Given the description of an element on the screen output the (x, y) to click on. 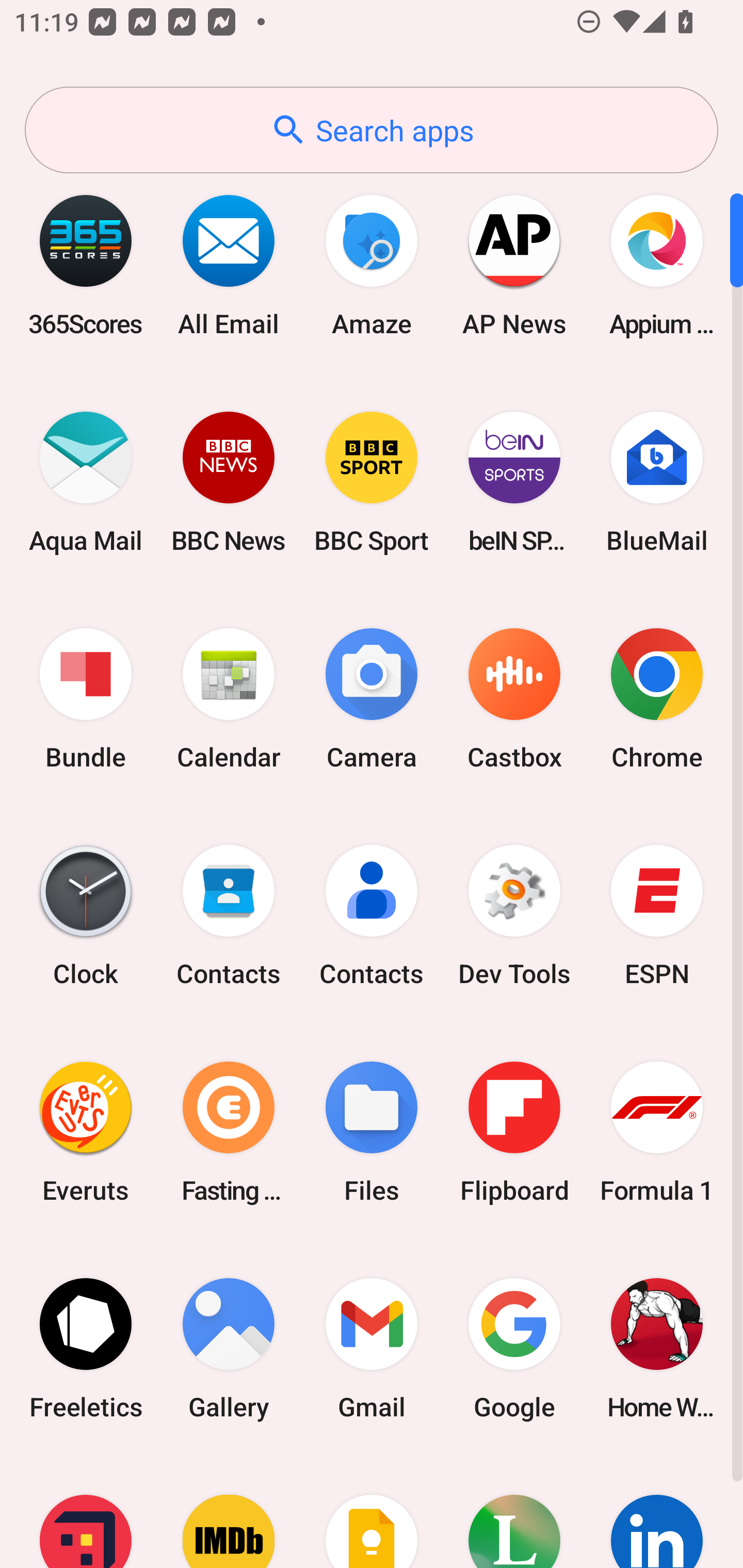
  Search apps (371, 130)
365Scores (85, 264)
All Email (228, 264)
Amaze (371, 264)
AP News (514, 264)
Appium Settings (656, 264)
Aqua Mail (85, 482)
BBC News (228, 482)
BBC Sport (371, 482)
beIN SPORTS (514, 482)
BlueMail (656, 482)
Bundle (85, 699)
Calendar (228, 699)
Camera (371, 699)
Castbox (514, 699)
Chrome (656, 699)
Clock (85, 915)
Contacts (228, 915)
Contacts (371, 915)
Dev Tools (514, 915)
ESPN (656, 915)
Everuts (85, 1131)
Fasting Coach (228, 1131)
Files (371, 1131)
Flipboard (514, 1131)
Formula 1 (656, 1131)
Freeletics (85, 1348)
Gallery (228, 1348)
Gmail (371, 1348)
Google (514, 1348)
Home Workout (656, 1348)
Hotels.com (85, 1512)
IMDb (228, 1512)
Keep Notes (371, 1512)
Lifesum (514, 1512)
LinkedIn (656, 1512)
